Given the description of an element on the screen output the (x, y) to click on. 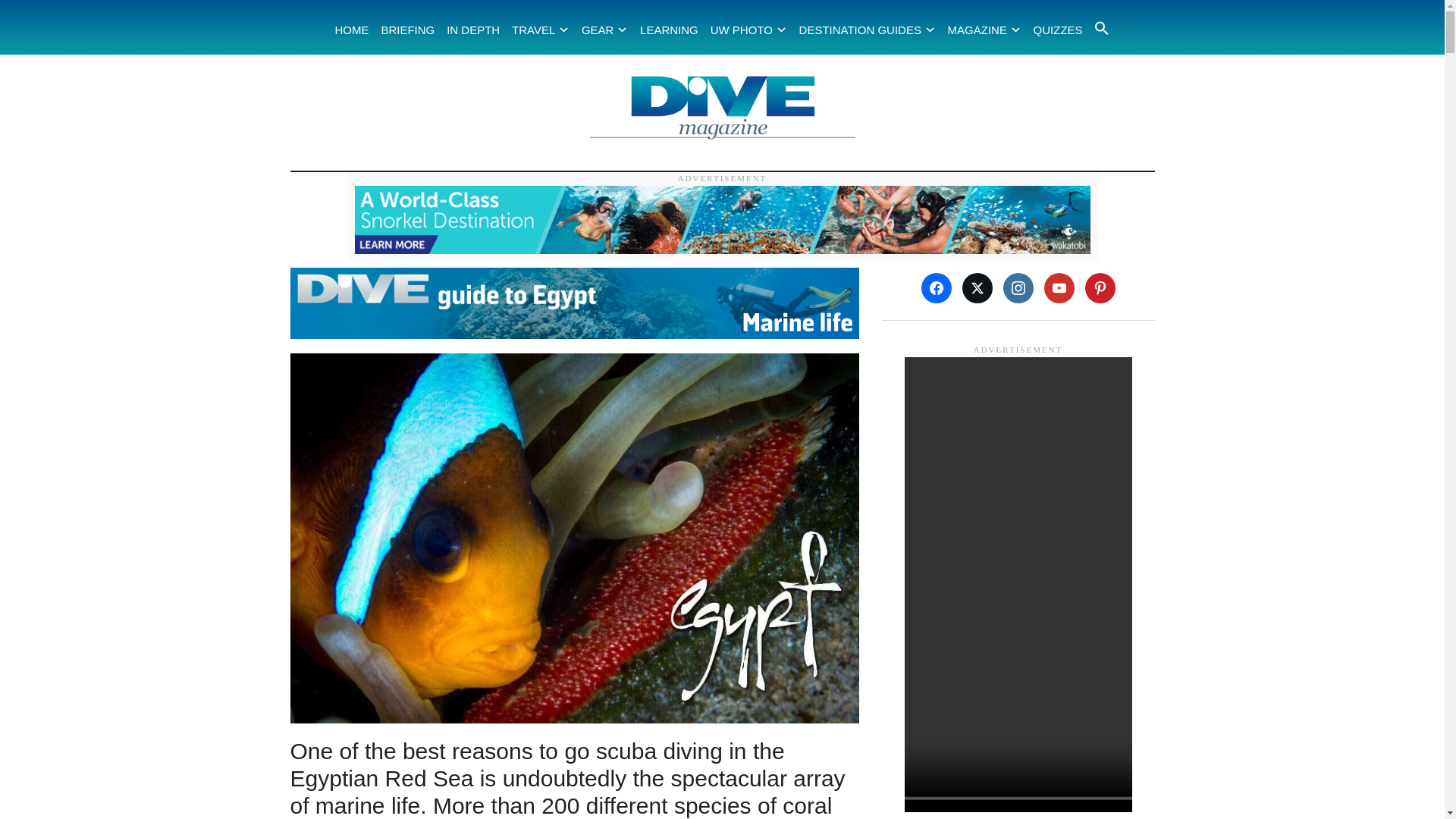
IN DEPTH (475, 29)
GEAR (606, 29)
UW PHOTO (750, 29)
DESTINATION GUIDES (869, 29)
BRIEFING (409, 29)
LEARNING (670, 29)
TRAVEL (542, 29)
